Given the description of an element on the screen output the (x, y) to click on. 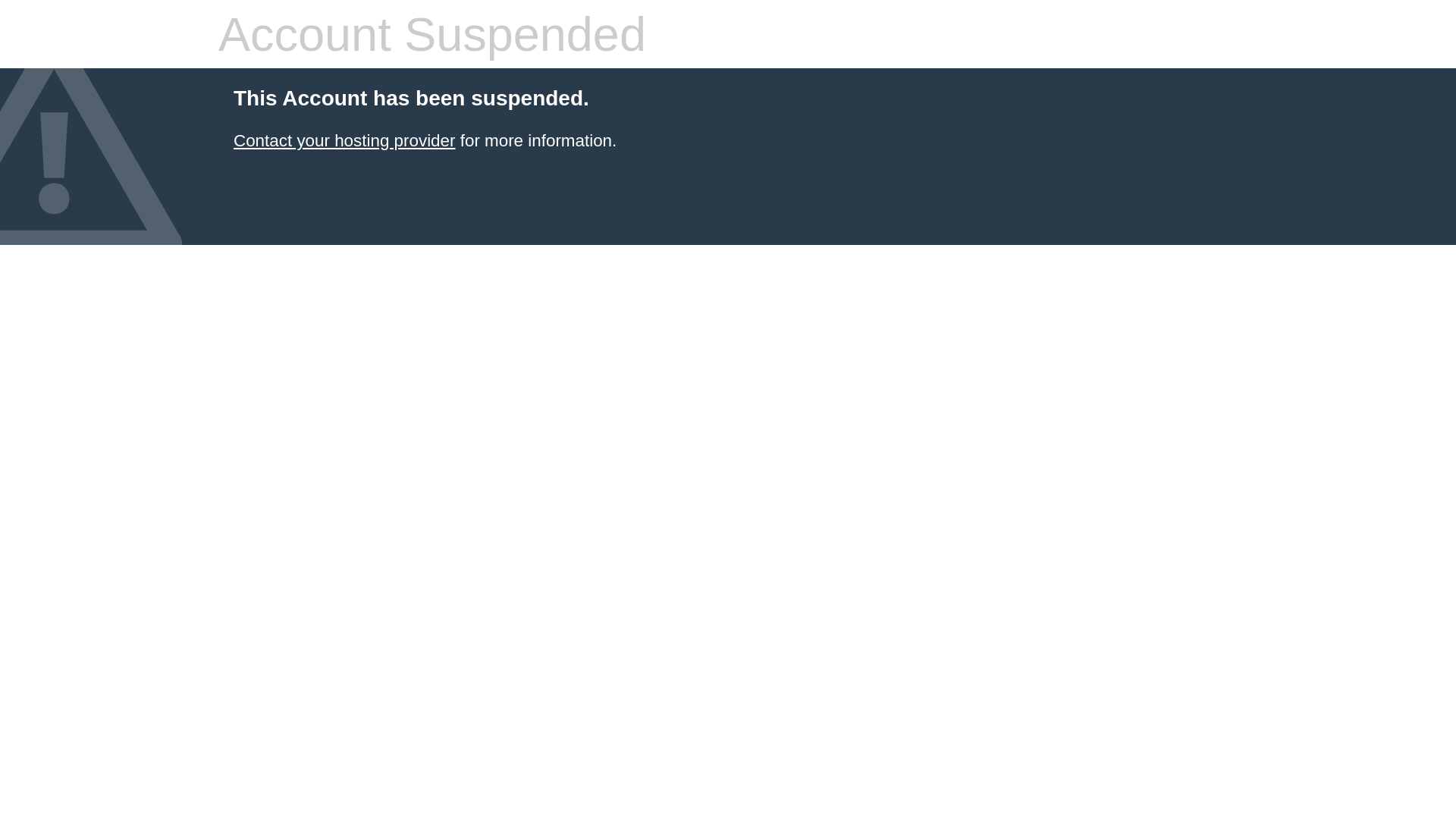
Contact your hosting provider Element type: text (344, 140)
